Given the description of an element on the screen output the (x, y) to click on. 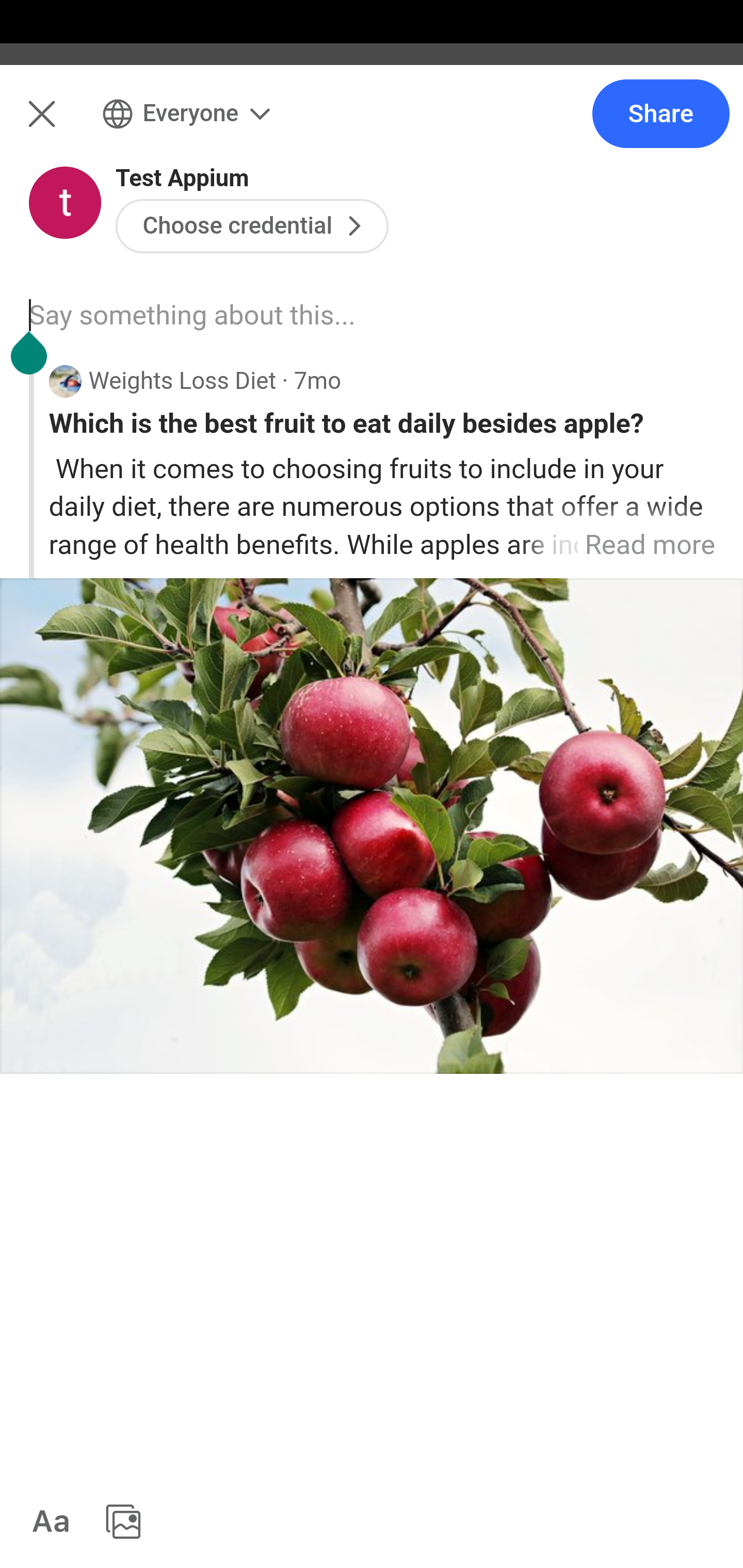
Me Home Search Add (371, 125)
Me (64, 125)
What do you want to ask or share? (408, 216)
